Given the description of an element on the screen output the (x, y) to click on. 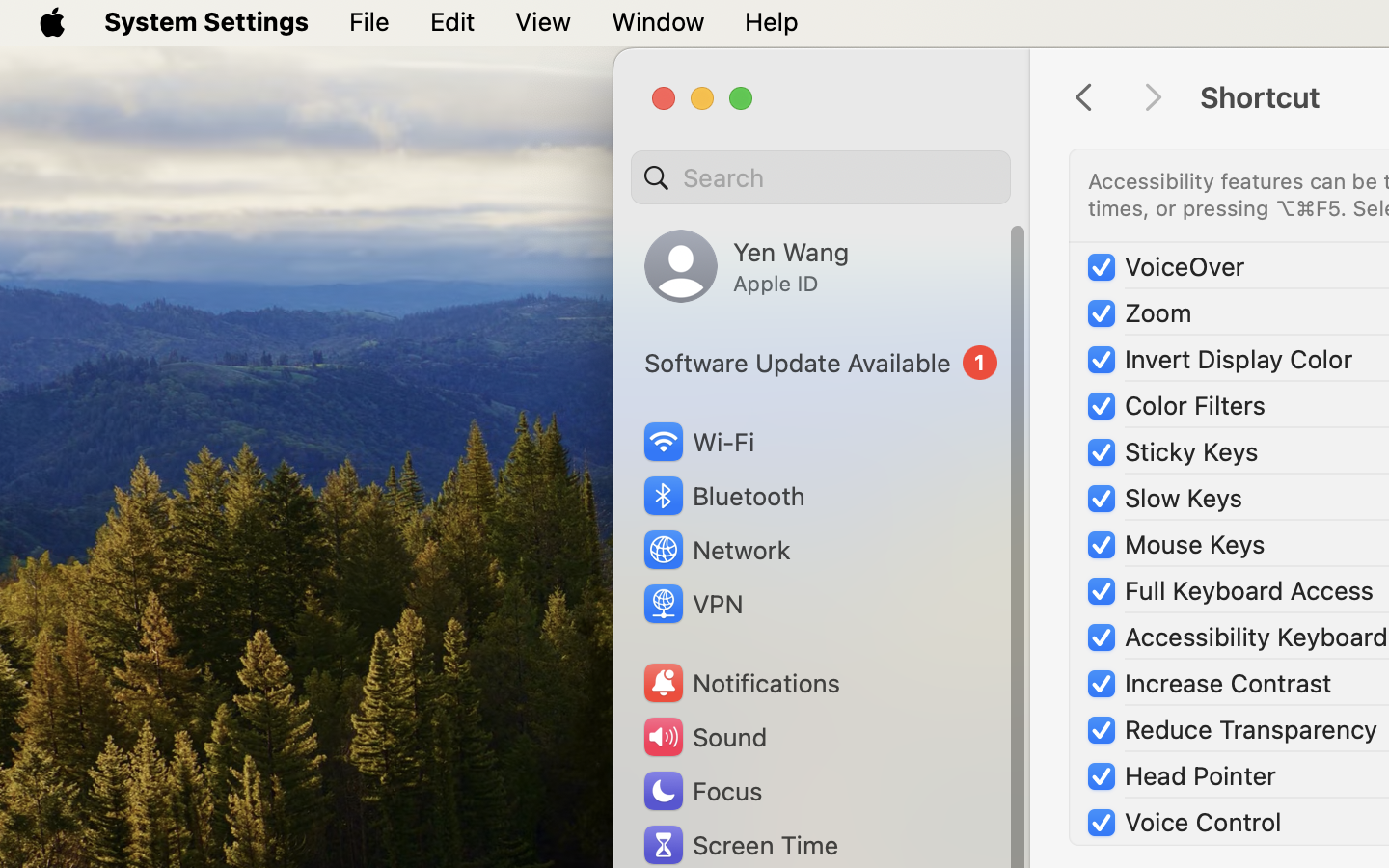
Sound Element type: AXStaticText (703, 736)
Wi‑Fi Element type: AXStaticText (697, 441)
Bluetooth Element type: AXStaticText (723, 495)
